Given the description of an element on the screen output the (x, y) to click on. 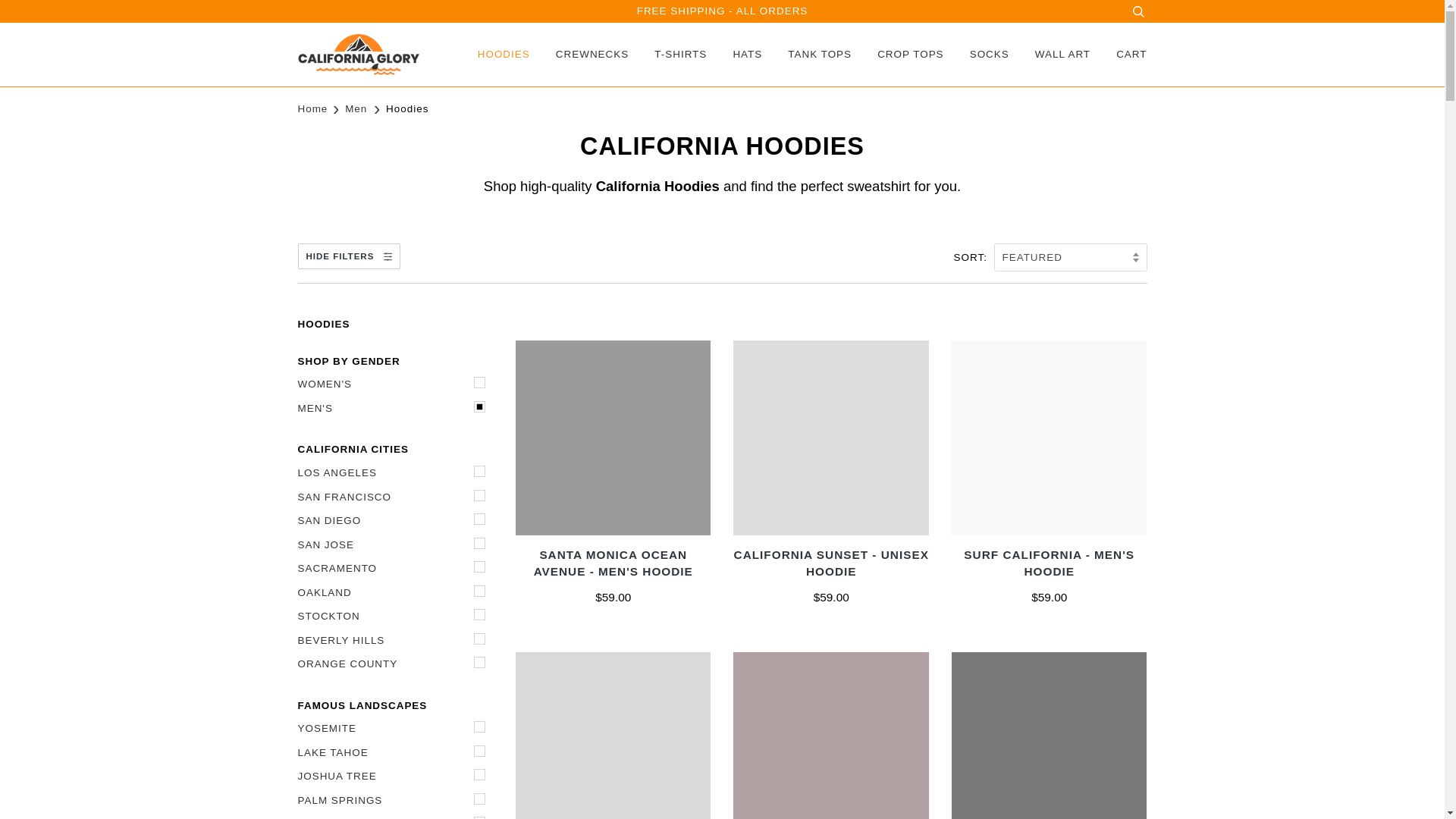
LOS ANGELES (395, 473)
WALL ART (1050, 54)
T-SHIRTS (668, 54)
Home (312, 106)
STOCKTON (395, 616)
CART (1120, 54)
HIDE FILTERS (347, 256)
SACRAMENTO (395, 568)
HOODIES (499, 54)
CROP TOPS (898, 54)
